Given the description of an element on the screen output the (x, y) to click on. 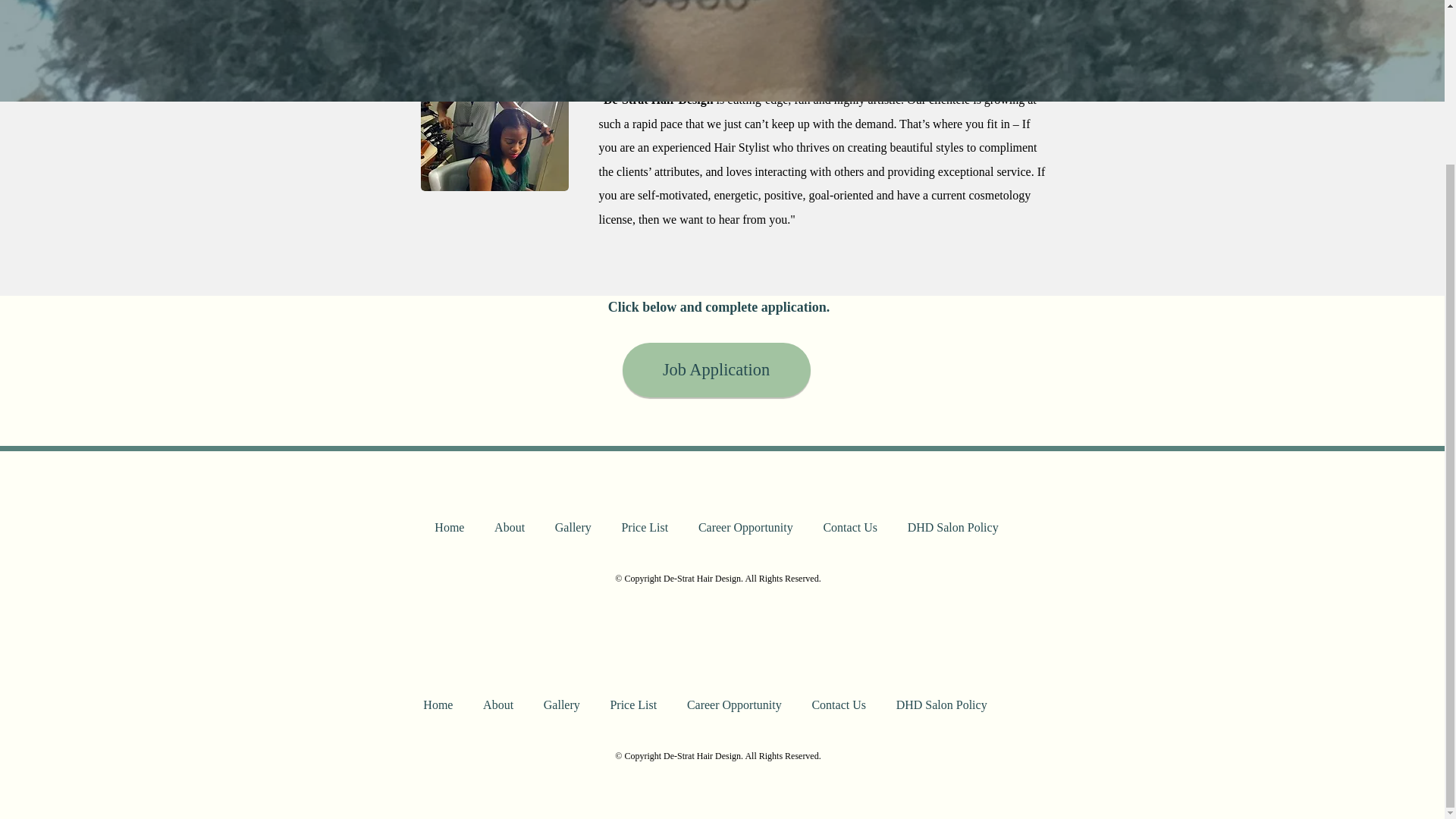
DHD Salon Policy (941, 705)
Home (437, 705)
Home (450, 527)
Career Opportunity (745, 527)
Contact Us (838, 705)
Price List (633, 705)
Gallery (573, 527)
Job Application (715, 370)
Price List (644, 527)
Contact Us (850, 527)
About (497, 705)
Career Opportunity (733, 705)
About (509, 527)
Gallery (561, 705)
DHD Salon Policy (952, 527)
